Given the description of an element on the screen output the (x, y) to click on. 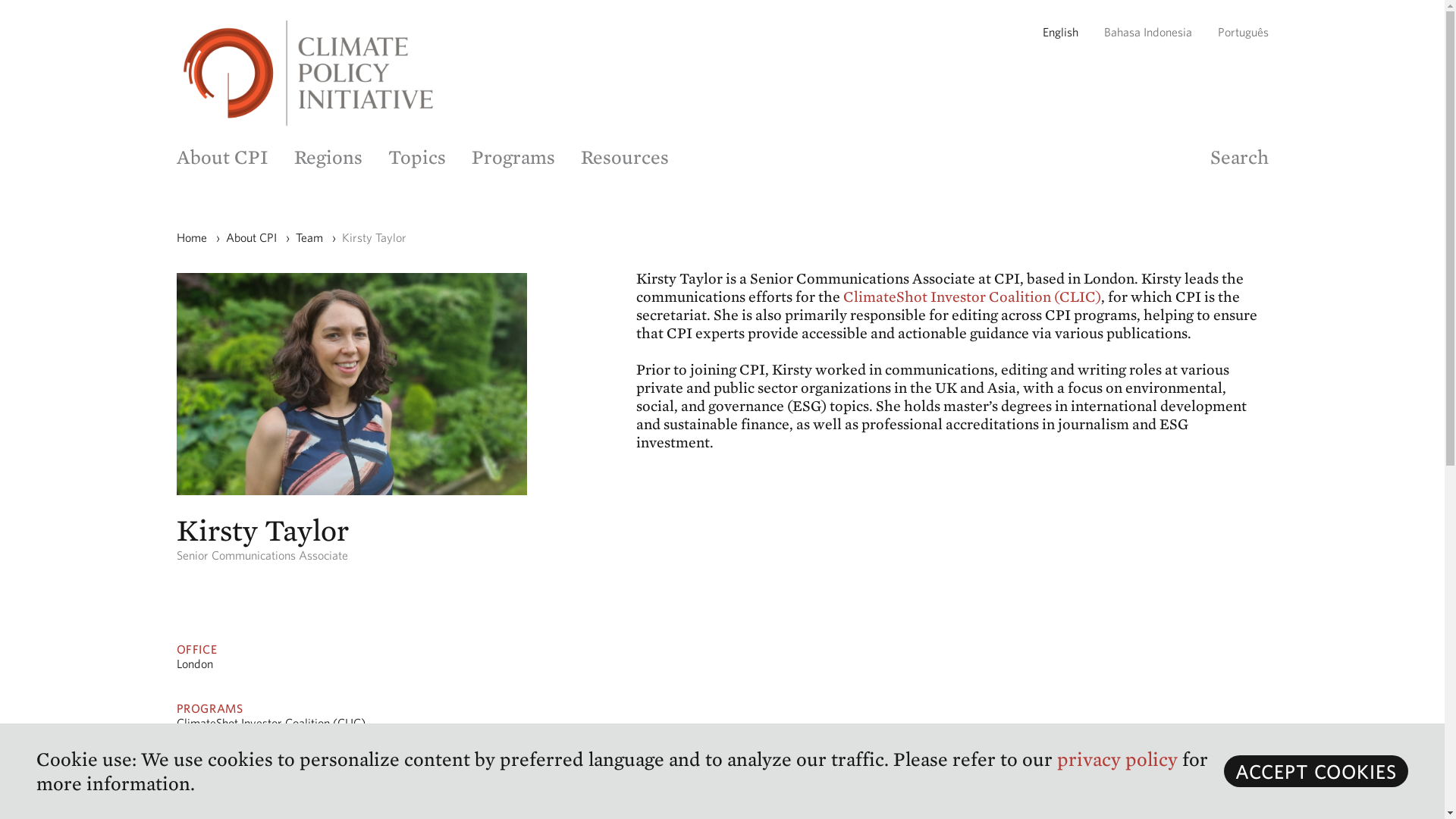
Bahasa Indonesia (1147, 31)
English (1059, 31)
